Given the description of an element on the screen output the (x, y) to click on. 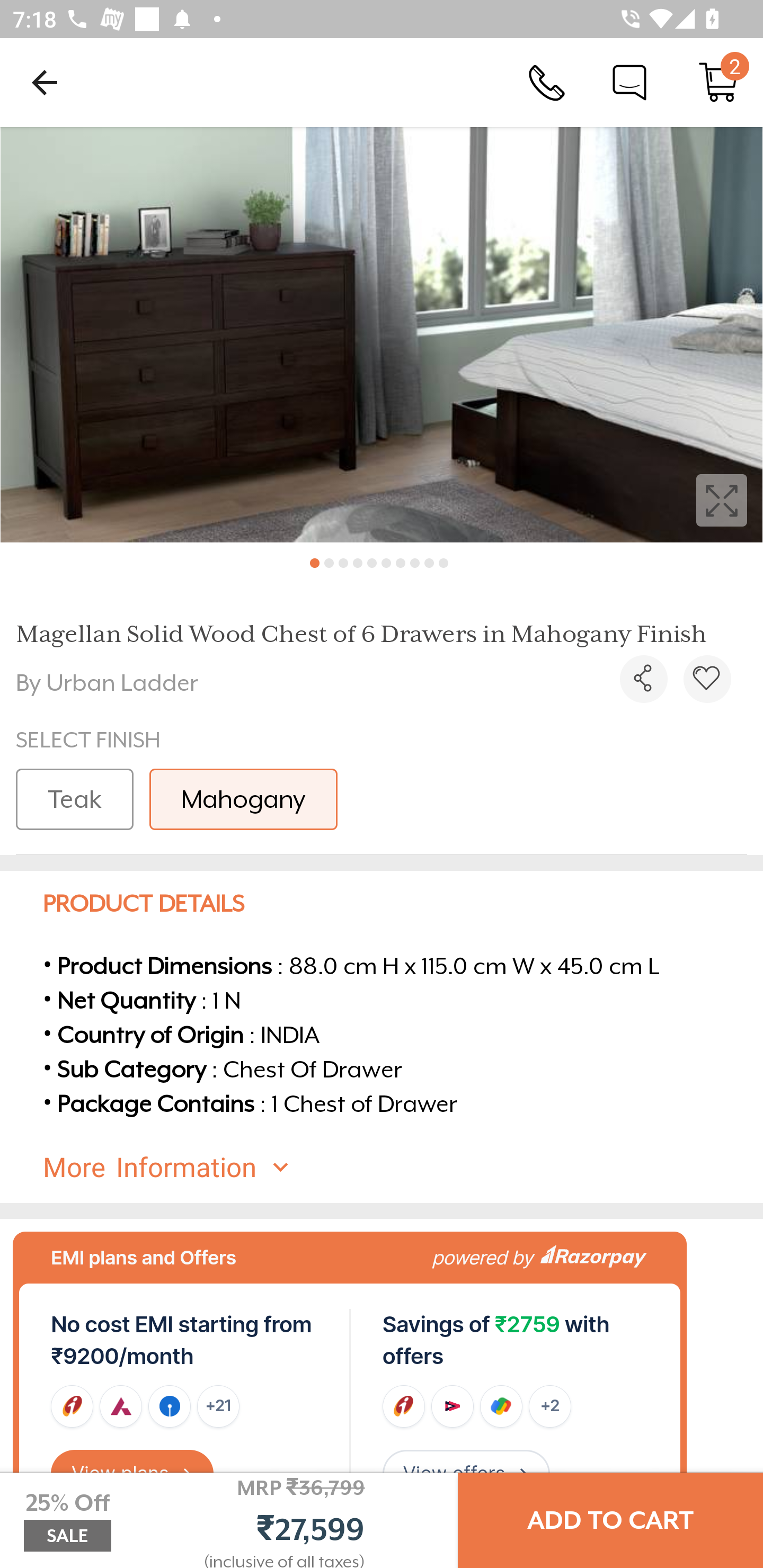
Navigate up (44, 82)
Call Us (546, 81)
Chat (629, 81)
Cart (718, 81)
 (381, 334)
 (643, 678)
 (706, 678)
Teak (74, 798)
Mahogany (243, 798)
More Information  (396, 1166)
ADD TO CART (610, 1520)
